Given the description of an element on the screen output the (x, y) to click on. 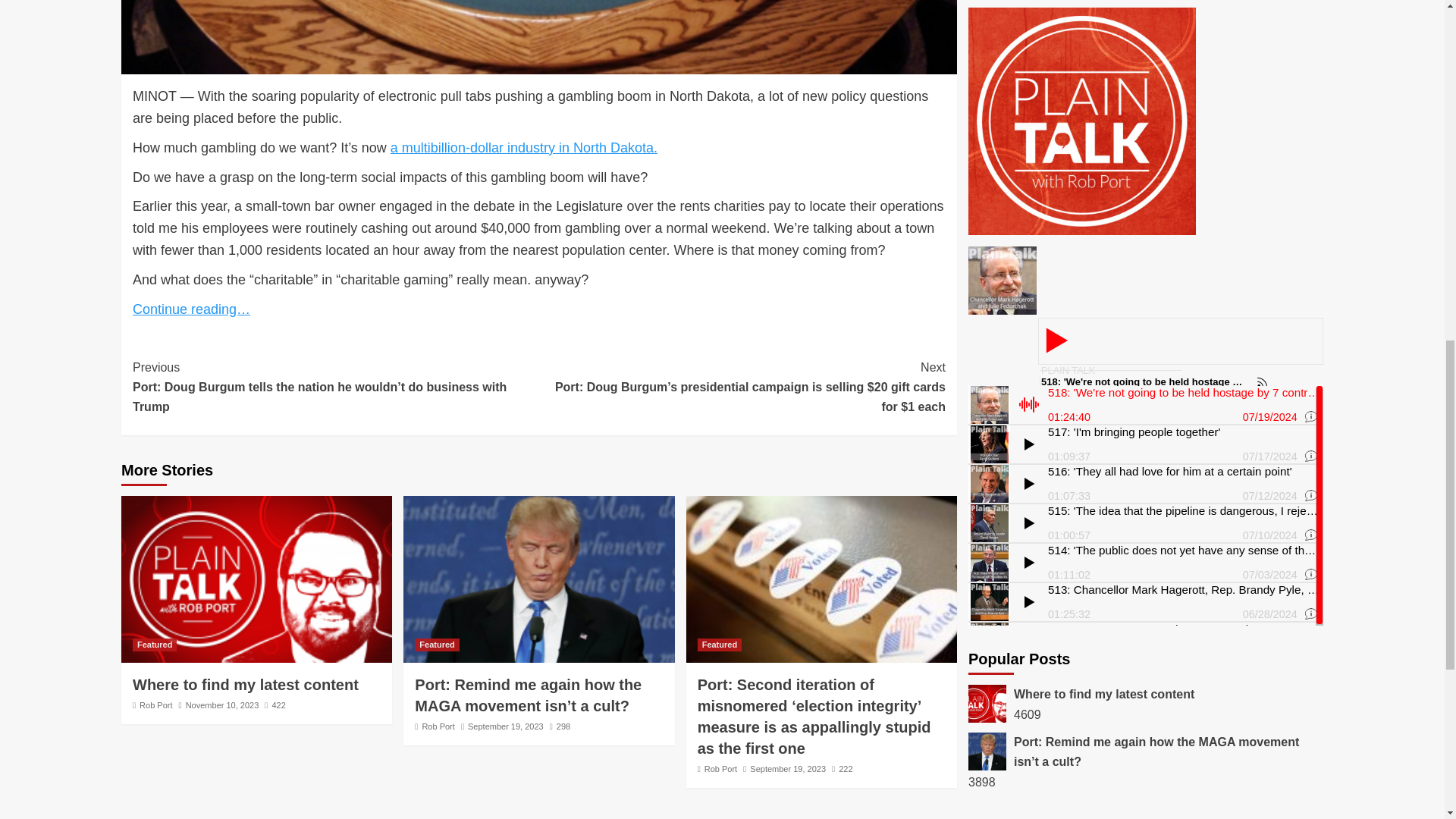
November 10, 2023 (222, 705)
Where to find my latest content (245, 684)
298 (560, 726)
Featured (436, 644)
Featured (154, 644)
Rob Port (438, 726)
September 19, 2023 (505, 726)
Rob Port (155, 705)
422 (274, 705)
a multibillion-dollar industry in North Dakota. (524, 147)
